Given the description of an element on the screen output the (x, y) to click on. 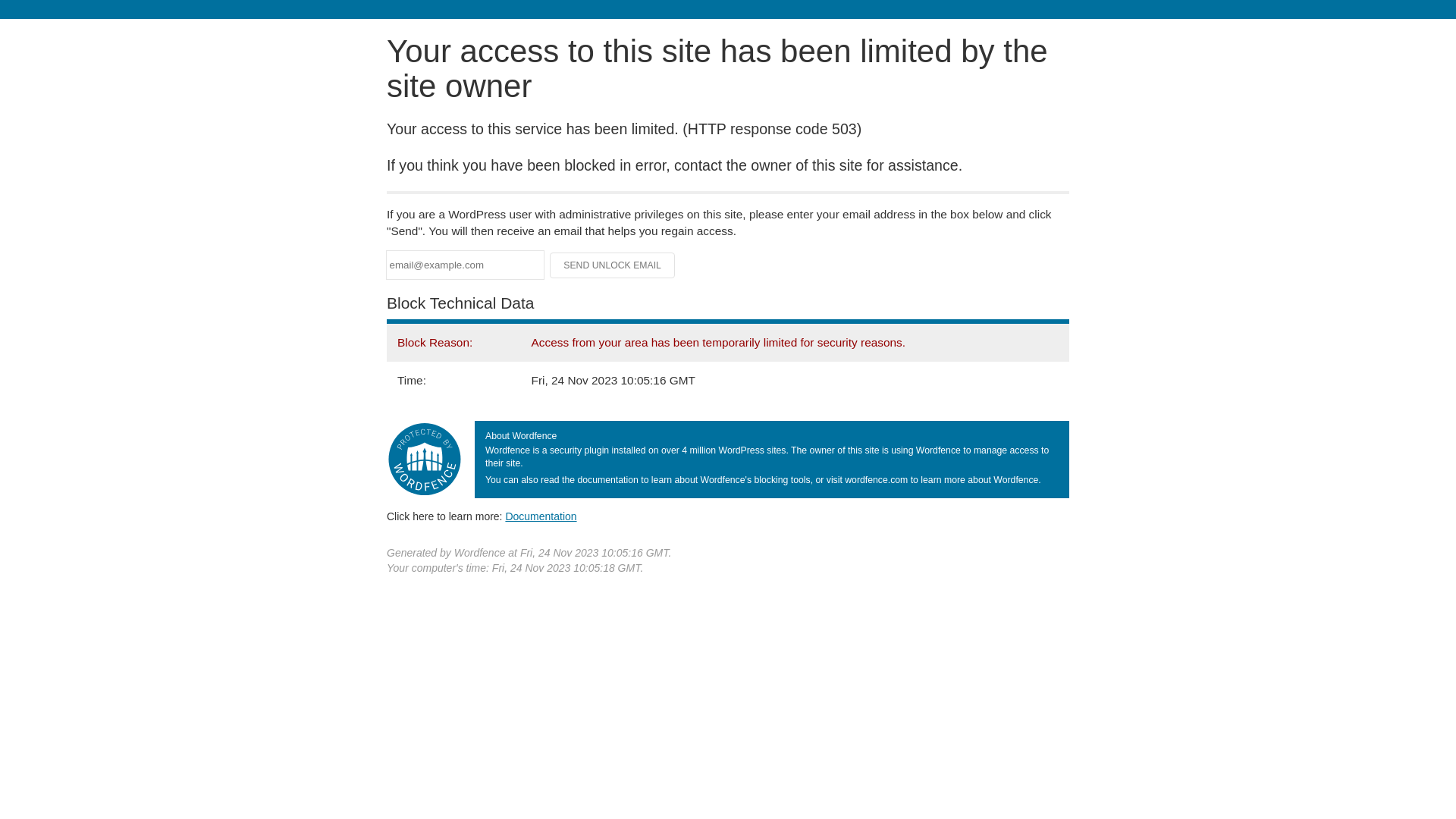
Send Unlock Email Element type: text (612, 265)
Documentation Element type: text (540, 516)
